Given the description of an element on the screen output the (x, y) to click on. 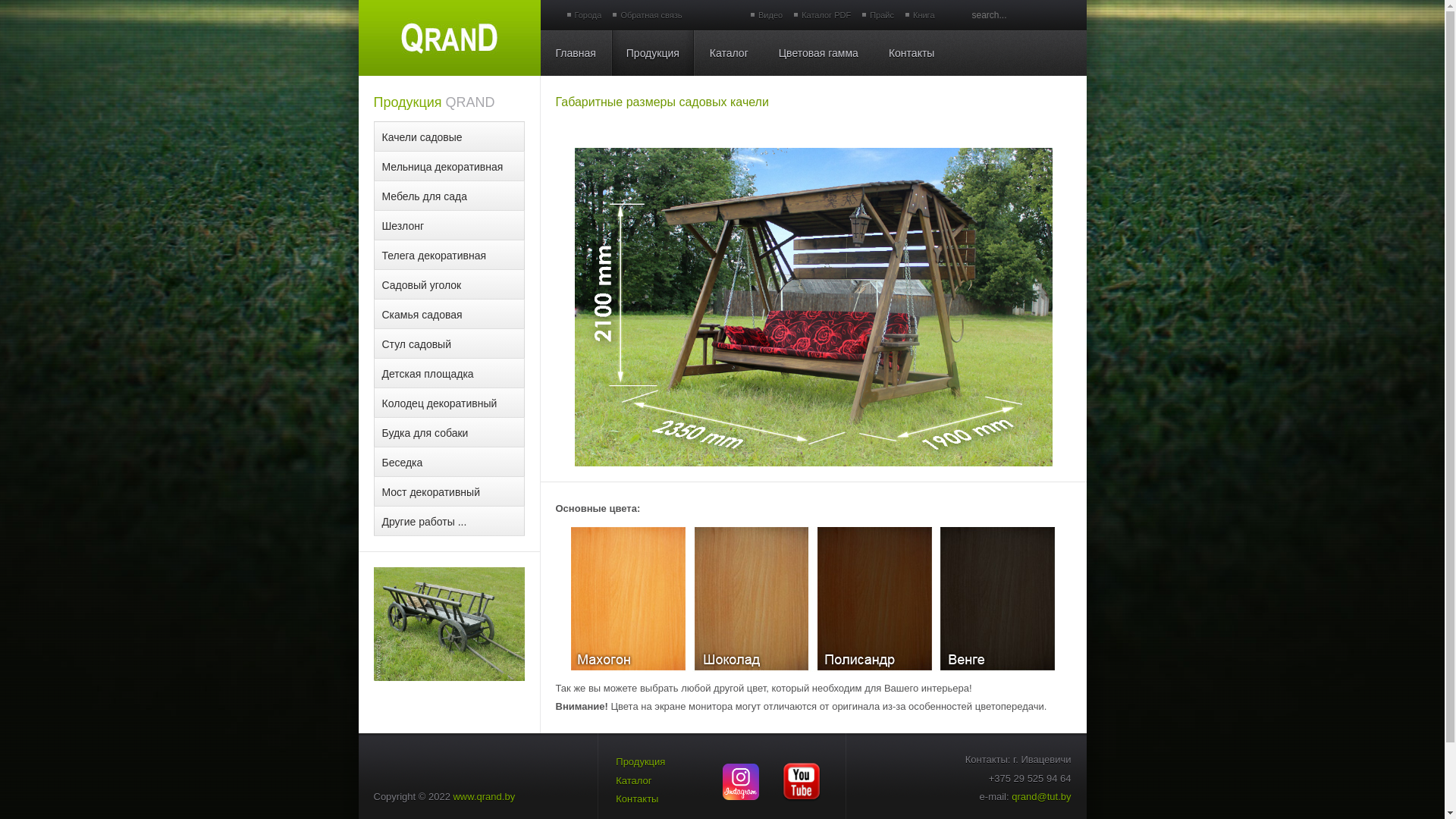
Search Element type: text (962, 15)
www.qrand.by Element type: text (483, 796)
Reset Element type: text (8, 9)
qrand@tut.by Element type: text (1040, 796)
